Given the description of an element on the screen output the (x, y) to click on. 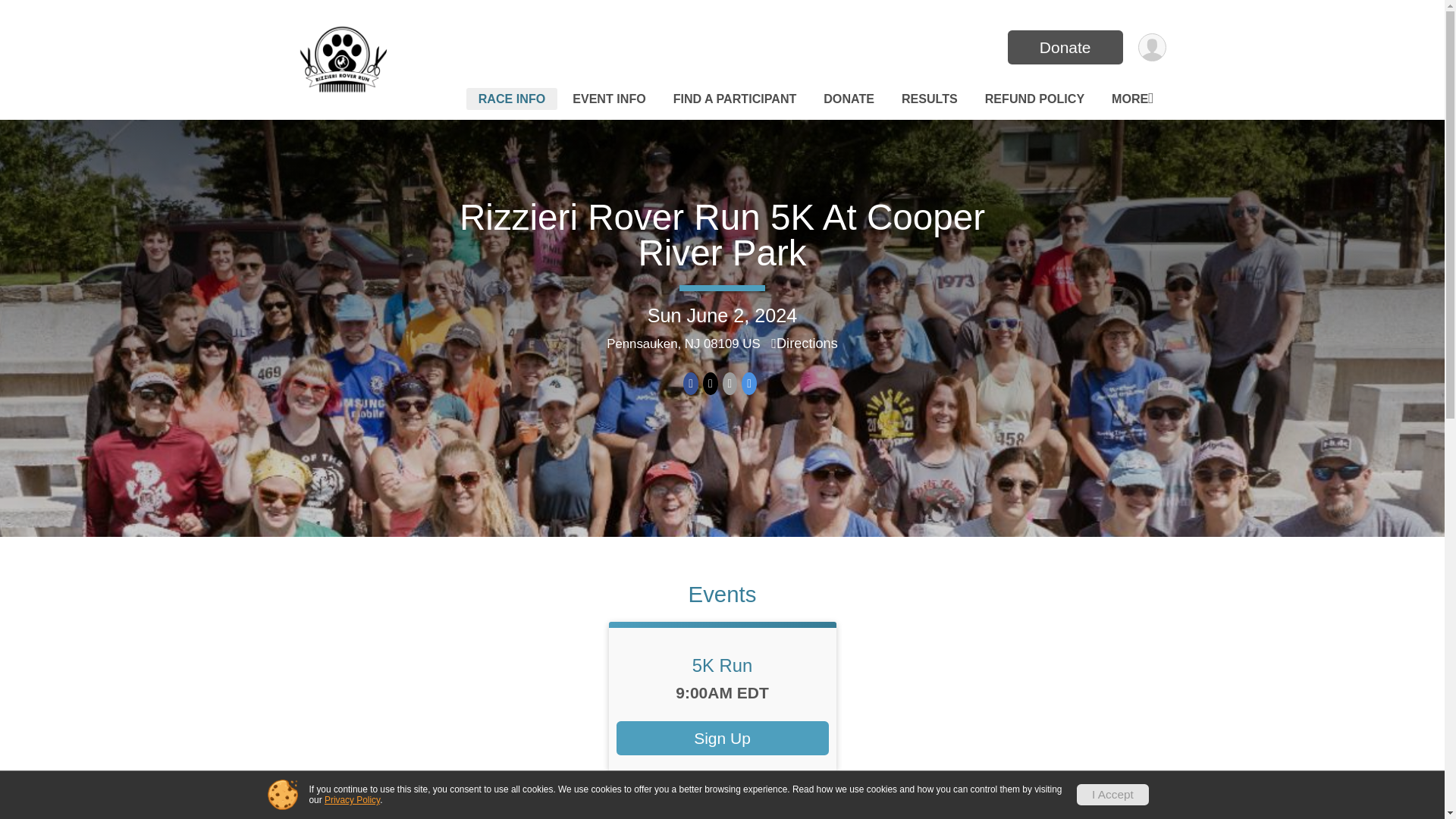
EVENT INFO (608, 98)
Donate (1064, 47)
REFUND POLICY (1034, 98)
5K Run (722, 665)
FIND A PARTICIPANT (735, 98)
Directions (804, 343)
MORE (1131, 98)
DONATE (848, 98)
Sign Up (721, 738)
RESULTS (929, 98)
